Given the description of an element on the screen output the (x, y) to click on. 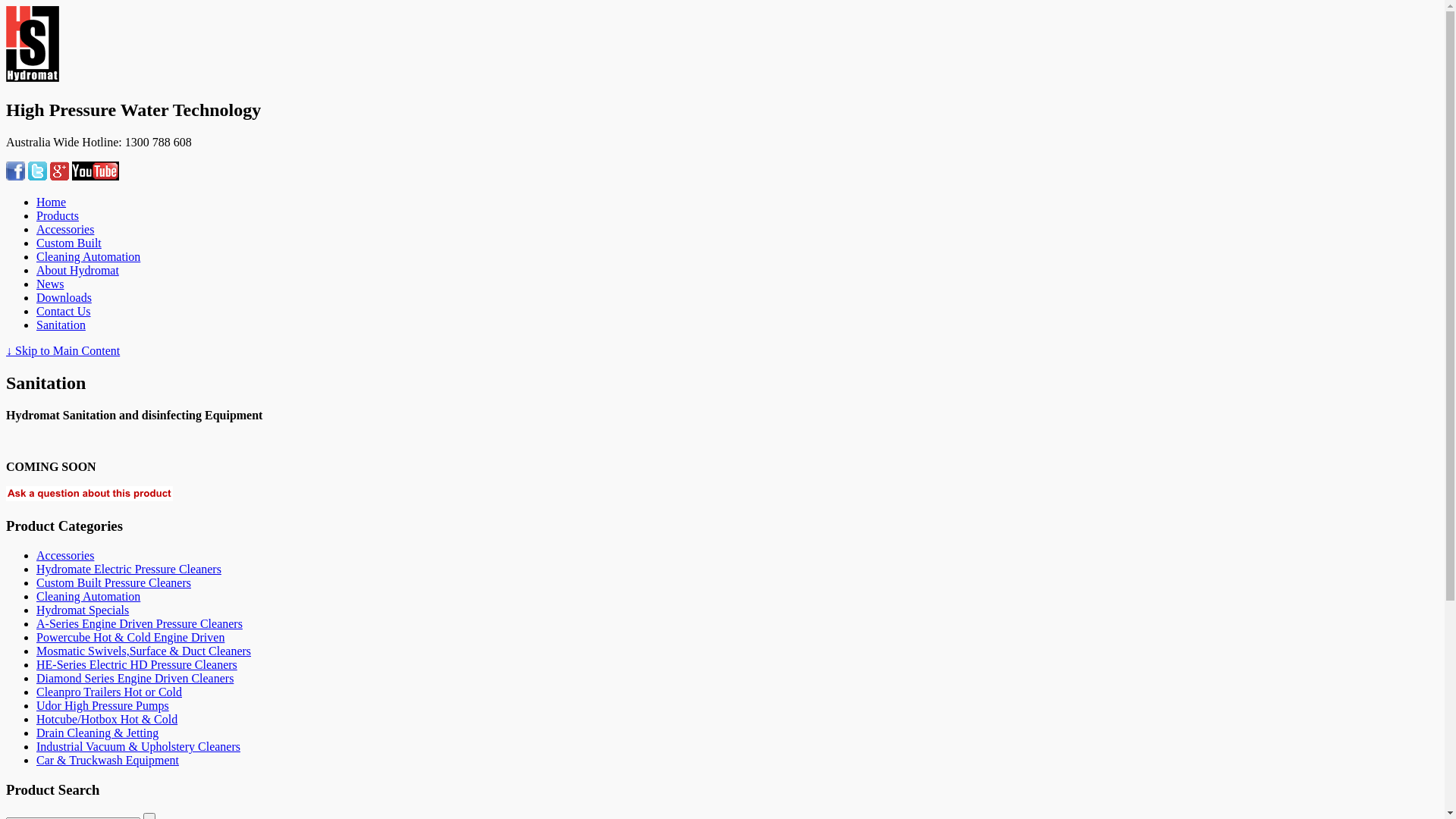
Cleaning Automation Element type: text (88, 595)
Home Element type: text (50, 201)
A-Series Engine Driven Pressure Cleaners Element type: text (139, 623)
Cleaning Automation Element type: text (88, 256)
Sanitation Element type: text (60, 324)
Drain Cleaning & Jetting Element type: text (97, 732)
Hotcube/Hotbox Hot & Cold Element type: text (106, 718)
Downloads Element type: text (63, 297)
Contact Us Element type: text (63, 310)
Diamond Series Engine Driven Cleaners Element type: text (134, 677)
Cleanpro Trailers Hot or Cold Element type: text (109, 691)
Powercube Hot & Cold Engine Driven Element type: text (130, 636)
Industrial Vacuum & Upholstery Cleaners Element type: text (138, 746)
About Hydromat Element type: text (77, 269)
News Element type: text (49, 283)
Mosmatic Swivels,Surface & Duct Cleaners Element type: text (143, 650)
Products Element type: text (57, 215)
Custom Built Pressure Cleaners Element type: text (113, 582)
Udor High Pressure Pumps Element type: text (102, 705)
Accessories Element type: text (65, 228)
Car & Truckwash Equipment Element type: text (107, 759)
Custom Built Element type: text (68, 242)
Hydromate Electric Pressure Cleaners Element type: text (128, 568)
Accessories Element type: text (65, 555)
HE-Series Electric HD Pressure Cleaners Element type: text (136, 664)
Hydromat Specials Element type: text (82, 609)
